Given the description of an element on the screen output the (x, y) to click on. 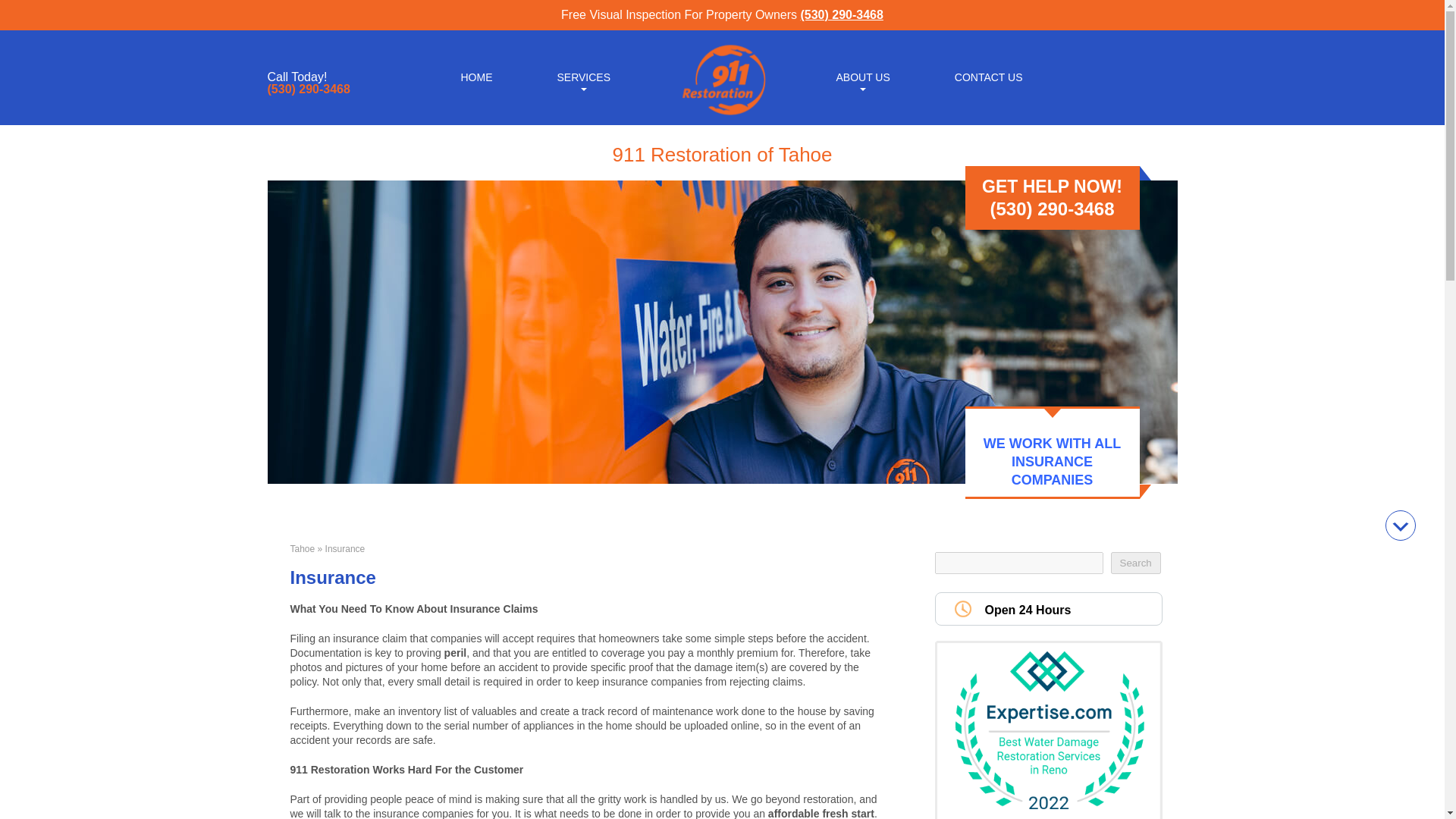
HOME (476, 76)
ABOUT US (862, 76)
Search (1134, 563)
CONTACT US (988, 76)
911 Water Damage Restoration Logo (721, 115)
Scroll to Down (1400, 525)
Go to Tahoe. (301, 548)
SERVICES (582, 76)
